Given the description of an element on the screen output the (x, y) to click on. 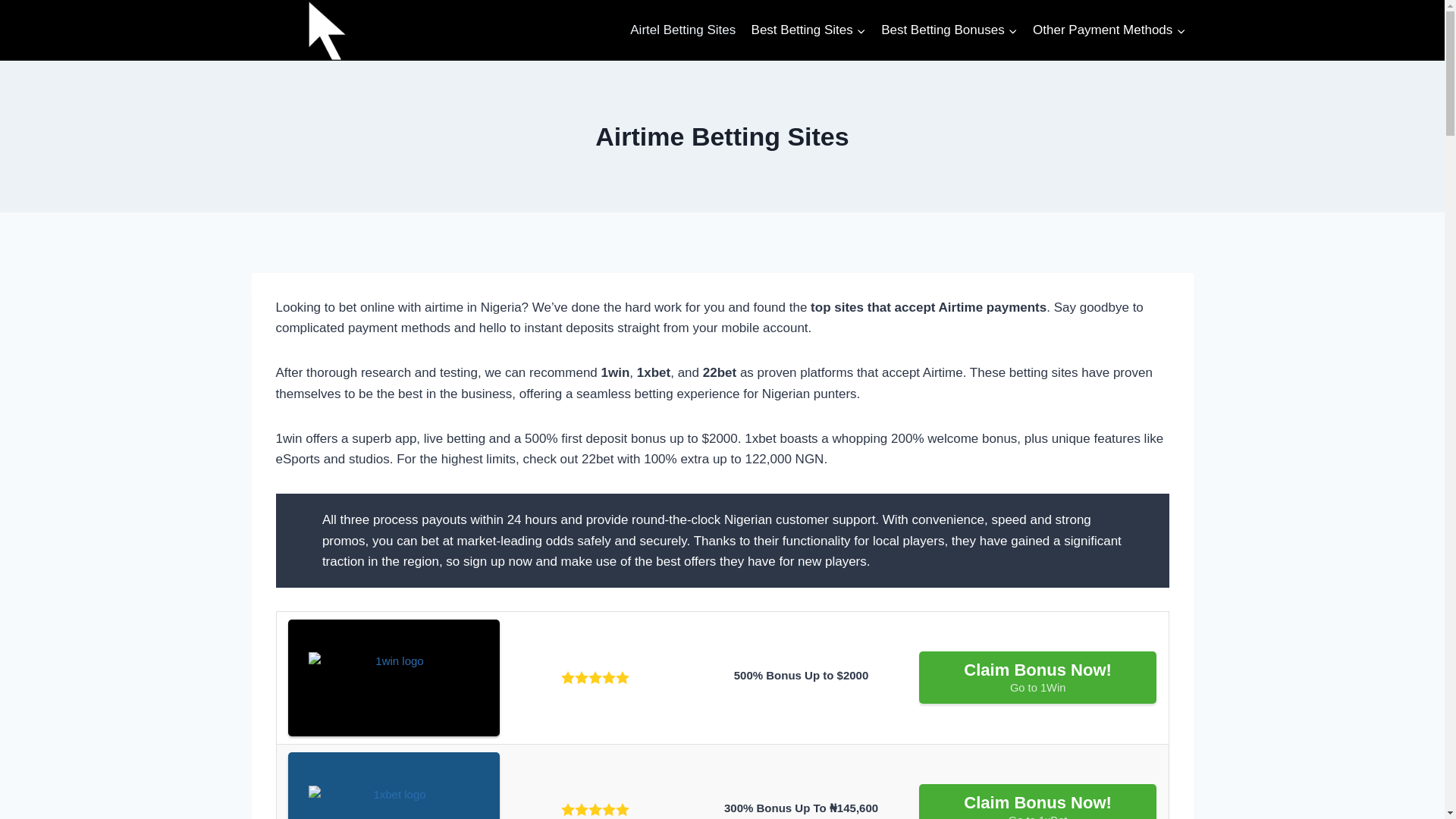
Other Payment Methods (1109, 30)
Best Betting Sites (807, 30)
Best Betting Bonuses (1037, 677)
Airtel Betting Sites (949, 30)
